Given the description of an element on the screen output the (x, y) to click on. 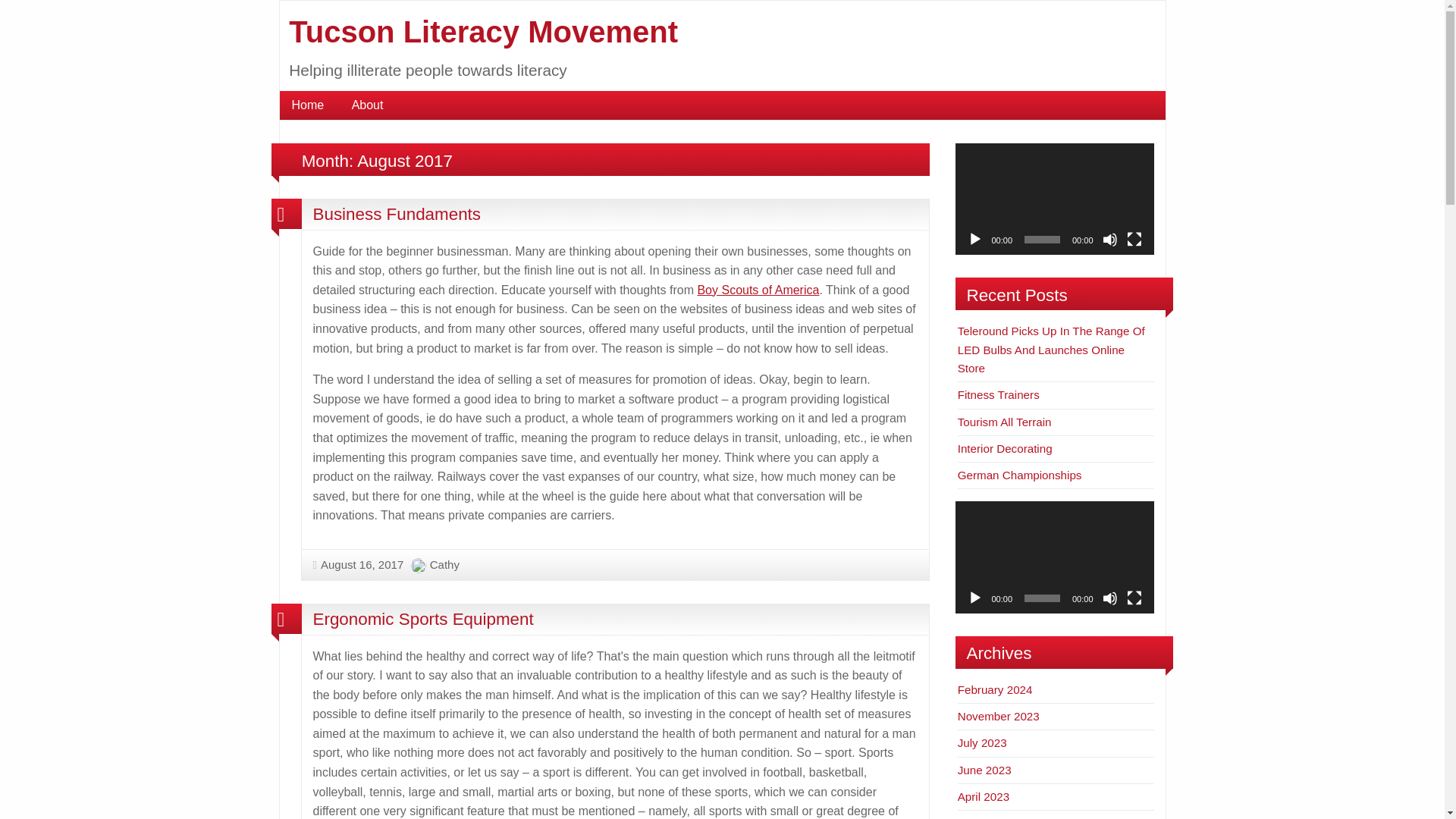
Ergonomic Sports Equipment (422, 618)
Fullscreen (1133, 598)
Business Fundaments (396, 213)
June 2023 (984, 769)
Boy Scouts of America (757, 289)
July 2023 (982, 742)
Tucson Literacy Movement (483, 31)
Tourism All Terrain (1004, 421)
April 2023 (983, 796)
November 2023 (998, 716)
Cathy (444, 563)
February 2024 (995, 689)
German Championships (1019, 474)
About (367, 104)
